Given the description of an element on the screen output the (x, y) to click on. 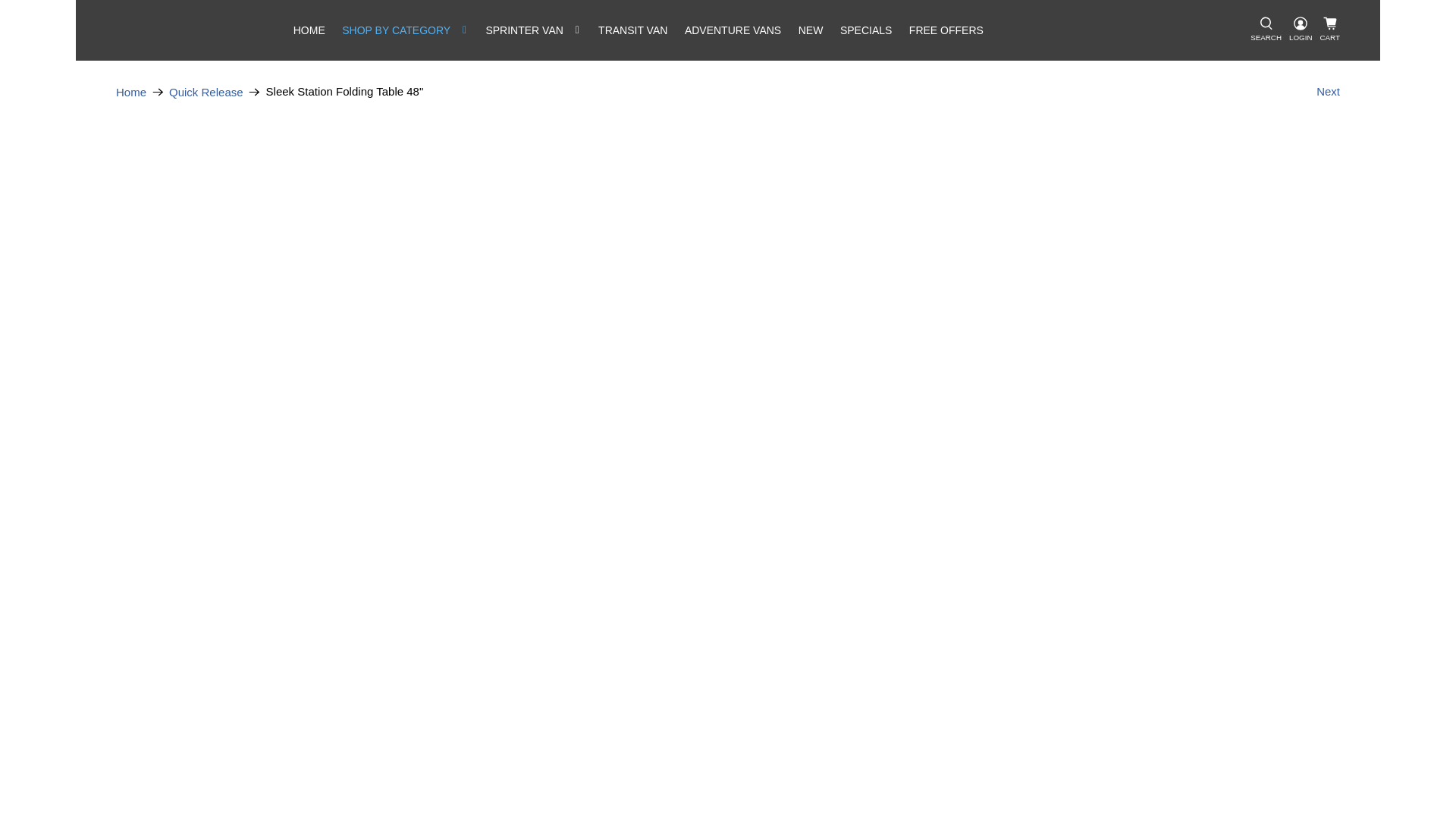
Quick Release (205, 91)
Next (1327, 91)
HOME (309, 30)
SHOP BY CATEGORY (405, 30)
RB Components (199, 30)
RB Components (131, 91)
